Given the description of an element on the screen output the (x, y) to click on. 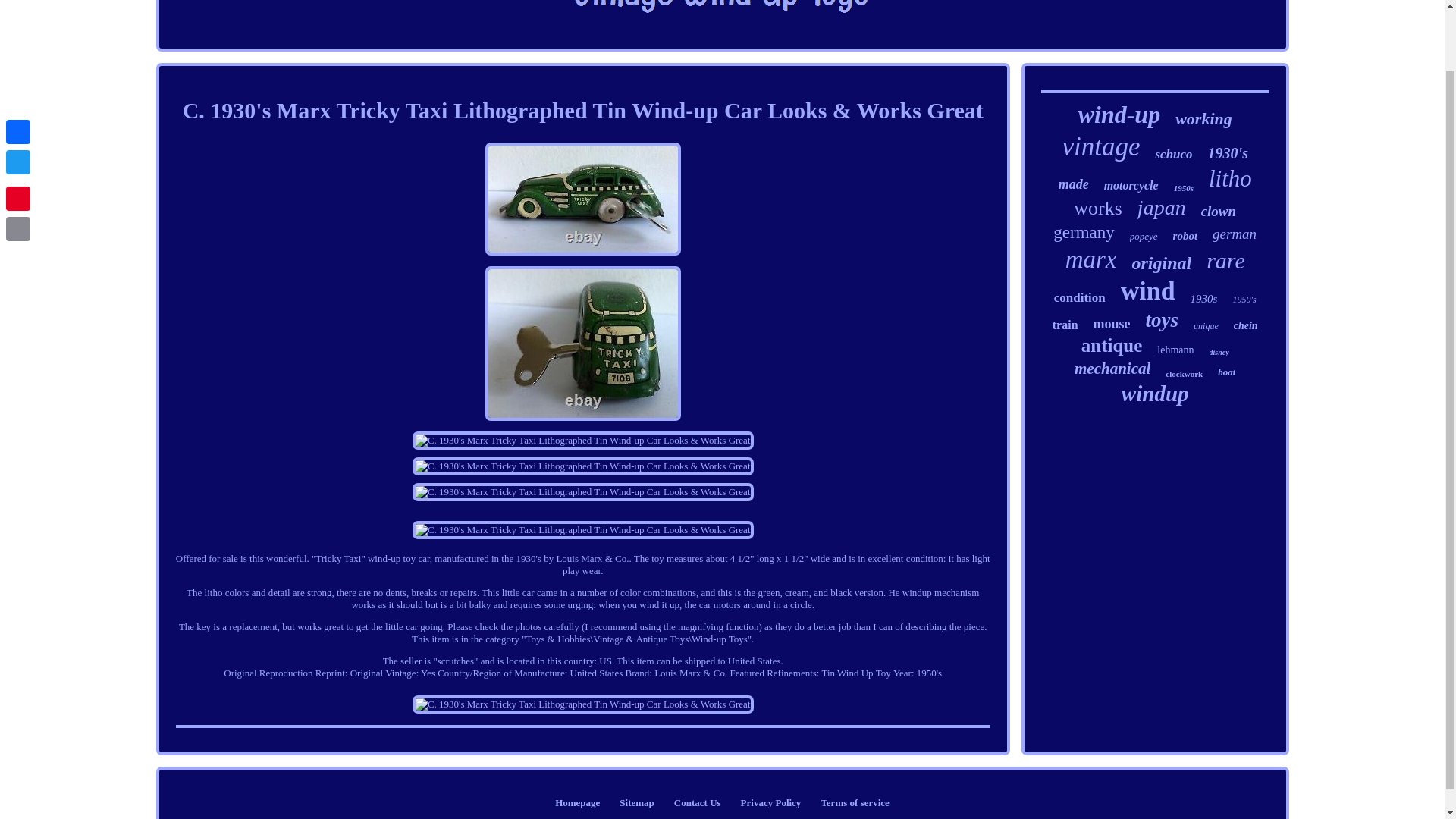
japan (1161, 207)
1950s (1183, 187)
german (1234, 234)
1930s (1204, 298)
unique (1205, 326)
popeye (1143, 236)
Twitter (17, 93)
wind (1147, 290)
marx (1090, 259)
original (1161, 263)
